Given the description of an element on the screen output the (x, y) to click on. 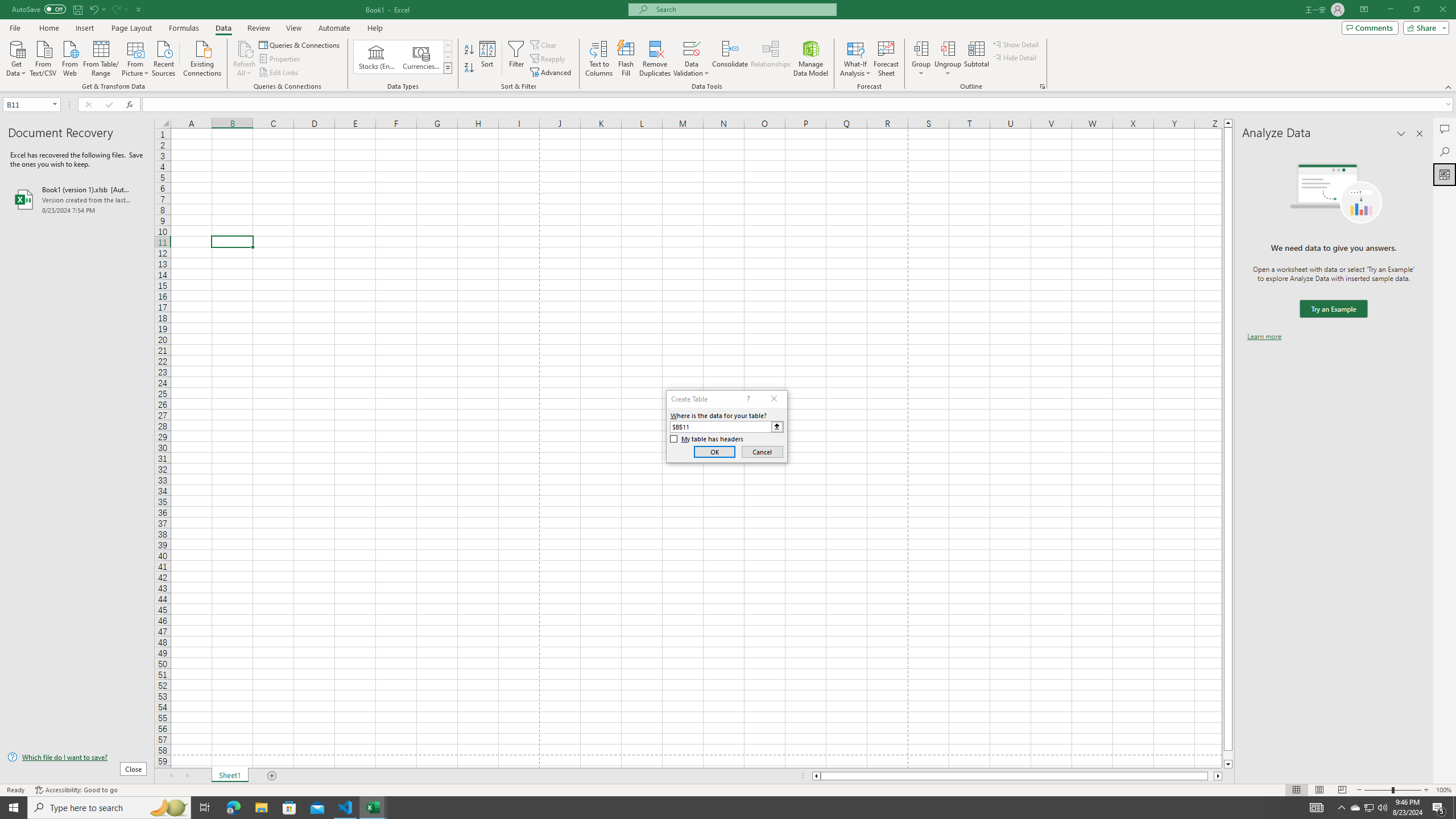
Quick Access Toolbar (77, 9)
Currencies (English) (420, 56)
Column right (1218, 775)
Save (77, 9)
Clear (544, 44)
Customize Quick Access Toolbar (139, 9)
Existing Connections (202, 57)
Line up (1228, 122)
Ribbon Display Options (1364, 9)
Collapse the Ribbon (1448, 86)
Microsoft search (742, 9)
